Given the description of an element on the screen output the (x, y) to click on. 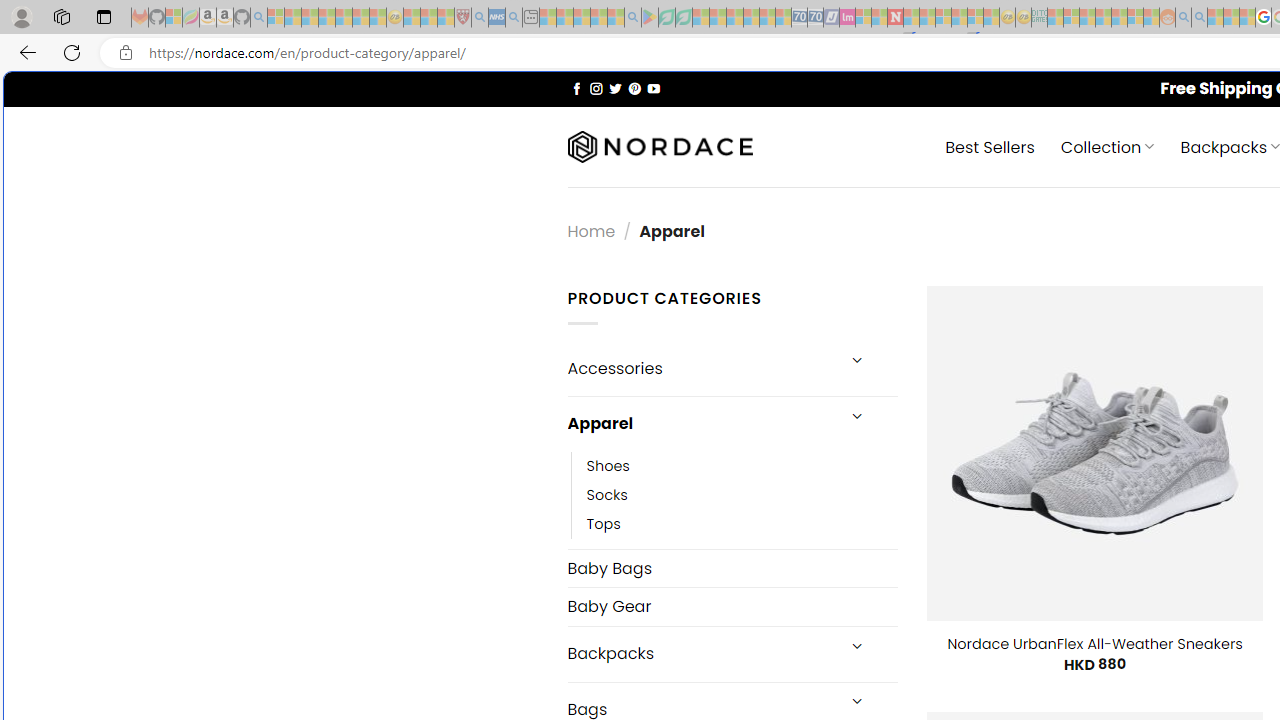
utah sues federal government - Search - Sleeping (513, 17)
Baby Gear (732, 606)
Cheap Hotels - Save70.com - Sleeping (815, 17)
Follow on YouTube (653, 88)
Latest Politics News & Archive | Newsweek.com - Sleeping (895, 17)
Jobs - lastminute.com Investor Portal - Sleeping (847, 17)
